Given the description of an element on the screen output the (x, y) to click on. 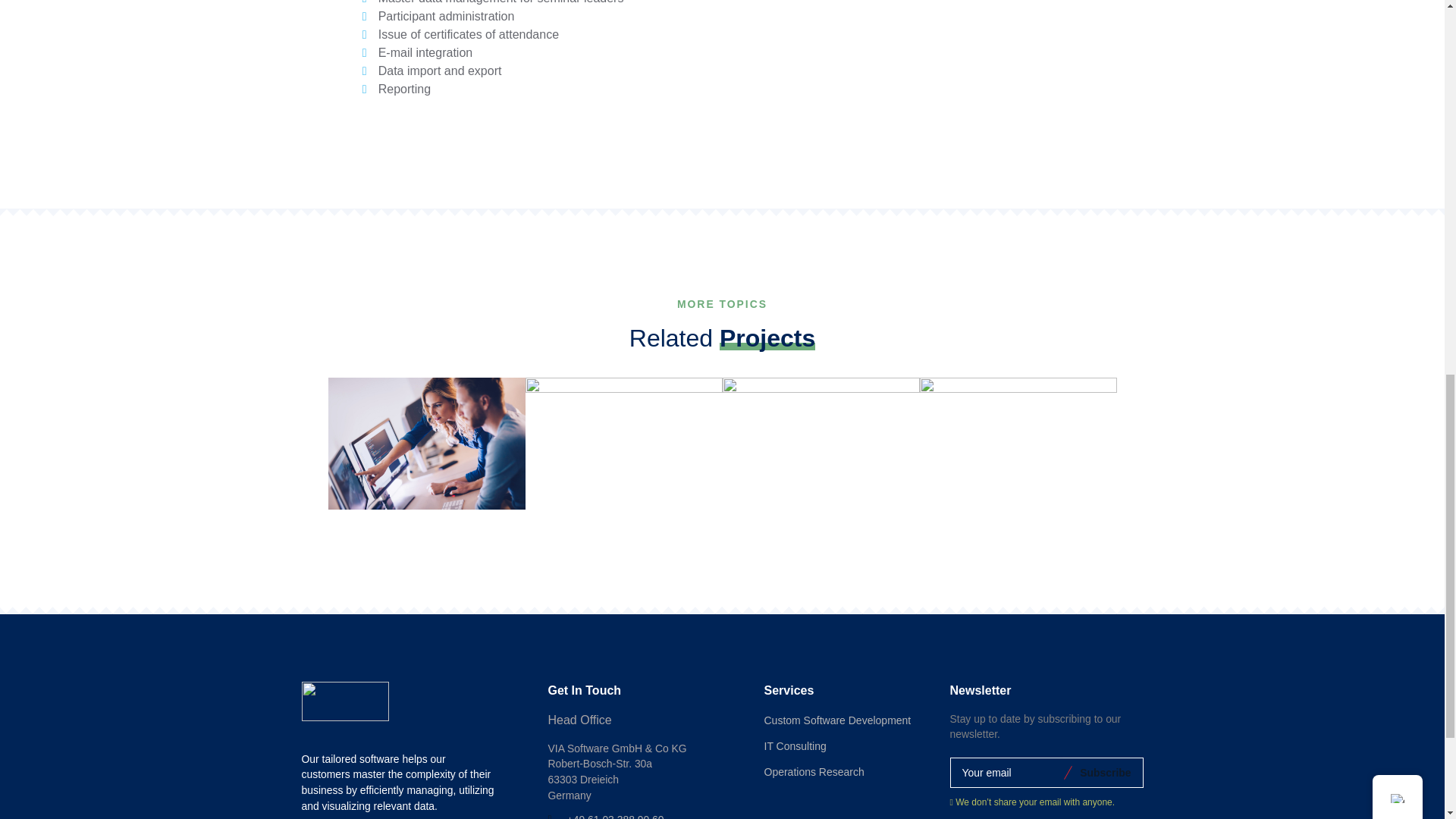
Subscribe (1102, 772)
Operations Research (814, 772)
IT Consulting (795, 746)
Custom Software Development (837, 720)
